Given the description of an element on the screen output the (x, y) to click on. 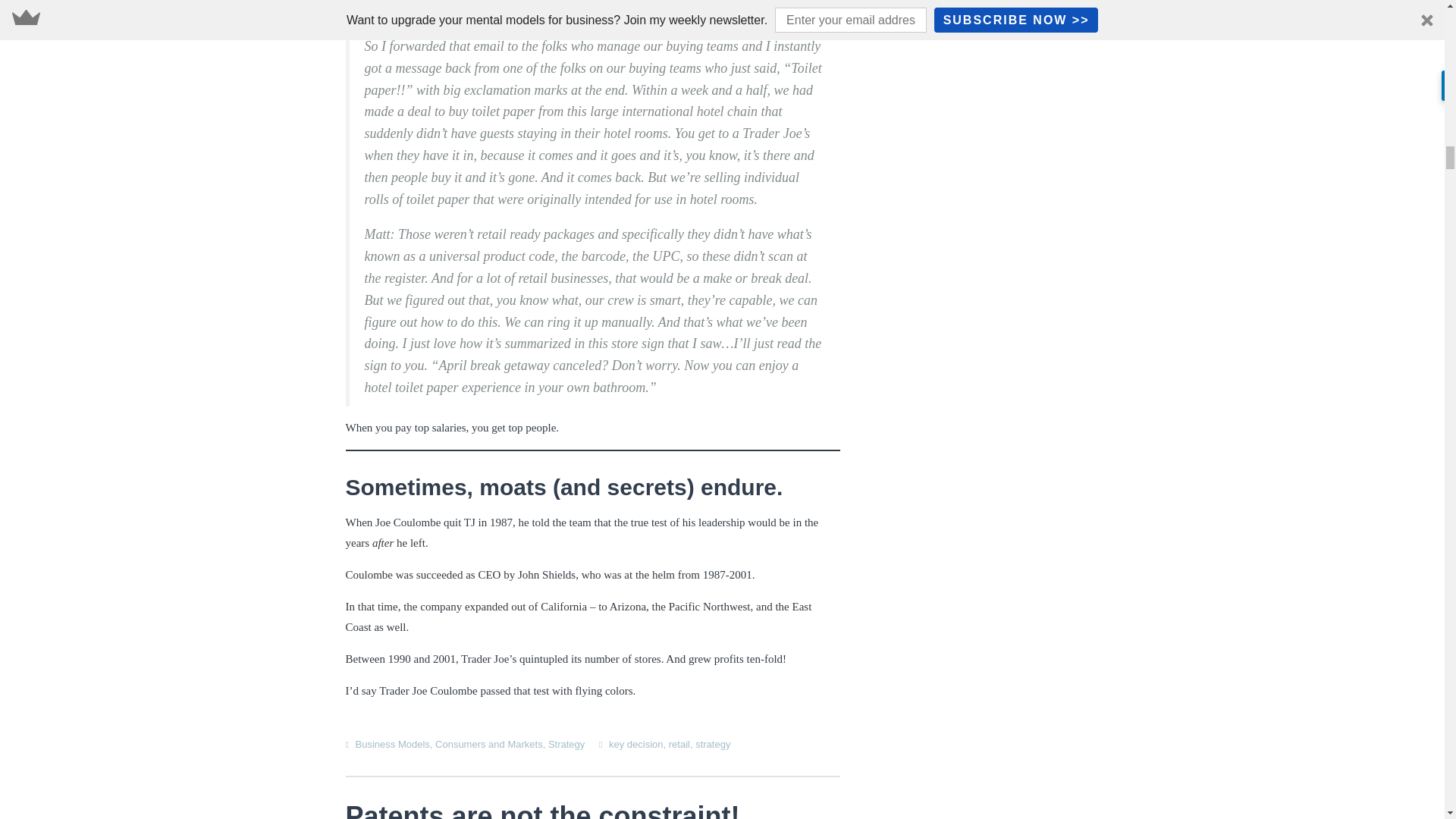
Patents are not the constraint! (542, 809)
Strategy (566, 744)
Consumers and Markets (489, 744)
Business Models (392, 744)
key decision (635, 744)
retail (679, 744)
strategy (712, 744)
